Given the description of an element on the screen output the (x, y) to click on. 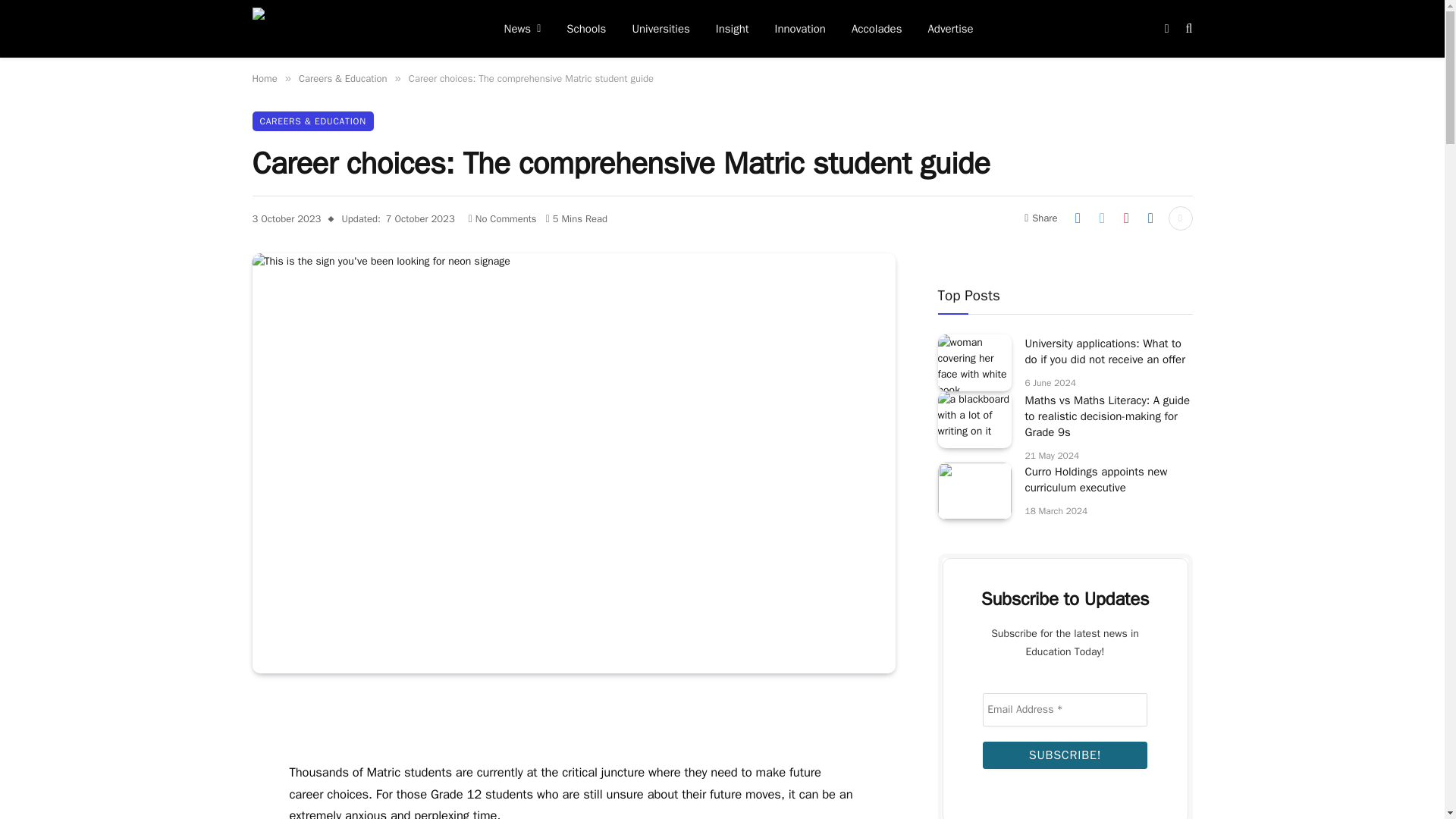
Insight (732, 28)
Schools (585, 28)
Universities (659, 28)
Education Today (357, 28)
News (523, 28)
Subscribe! (1064, 755)
